Given the description of an element on the screen output the (x, y) to click on. 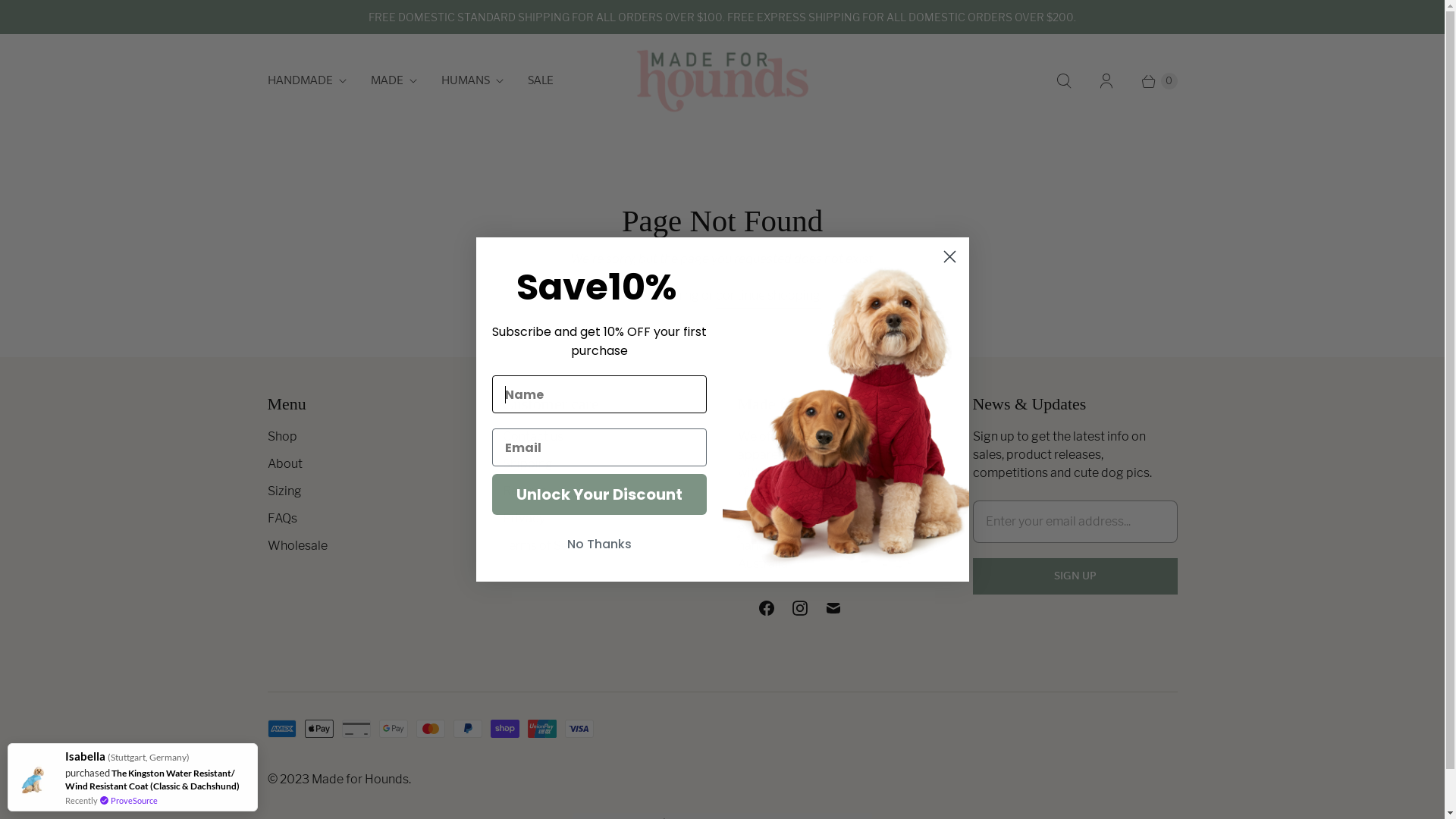
Shop Element type: text (281, 436)
Returns Element type: text (524, 490)
Sizing Element type: text (283, 490)
Shipping Element type: text (527, 463)
ProveSource Element type: text (133, 799)
Terms of Service Element type: text (548, 545)
FAQs Element type: text (281, 518)
Unlock Your Discount Element type: text (598, 493)
About Element type: text (283, 463)
Contact us Element type: text (532, 436)
Submit Element type: text (26, 9)
Sign Up Element type: text (1074, 576)
SALE Element type: text (540, 81)
No Thanks Element type: text (598, 544)
0 Element type: text (1151, 80)
continue shopping Element type: text (767, 297)
Made for Hounds Element type: text (358, 778)
Close dialog 1 Element type: text (948, 256)
Privacy Element type: text (523, 518)
Wholesale Element type: text (296, 545)
